Given the description of an element on the screen output the (x, y) to click on. 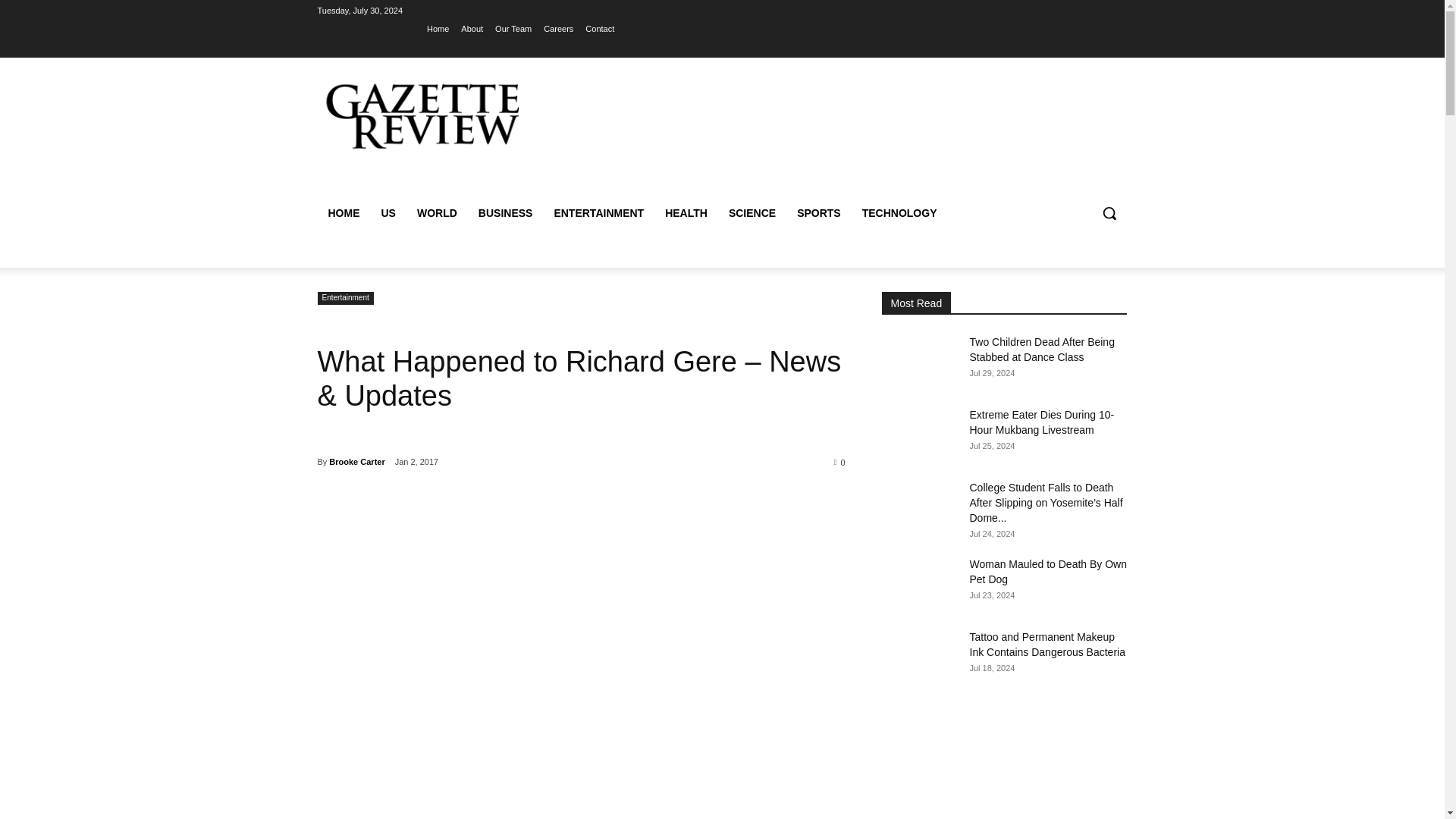
Contact (599, 28)
HEALTH (685, 212)
Brooke Carter (356, 461)
ENTERTAINMENT (598, 212)
SCIENCE (751, 212)
WORLD (436, 212)
Careers (558, 28)
Our Team (513, 28)
SPORTS (818, 212)
Home (437, 28)
0 (839, 461)
About (472, 28)
HOME (343, 212)
BUSINESS (505, 212)
TECHNOLOGY (899, 212)
